Given the description of an element on the screen output the (x, y) to click on. 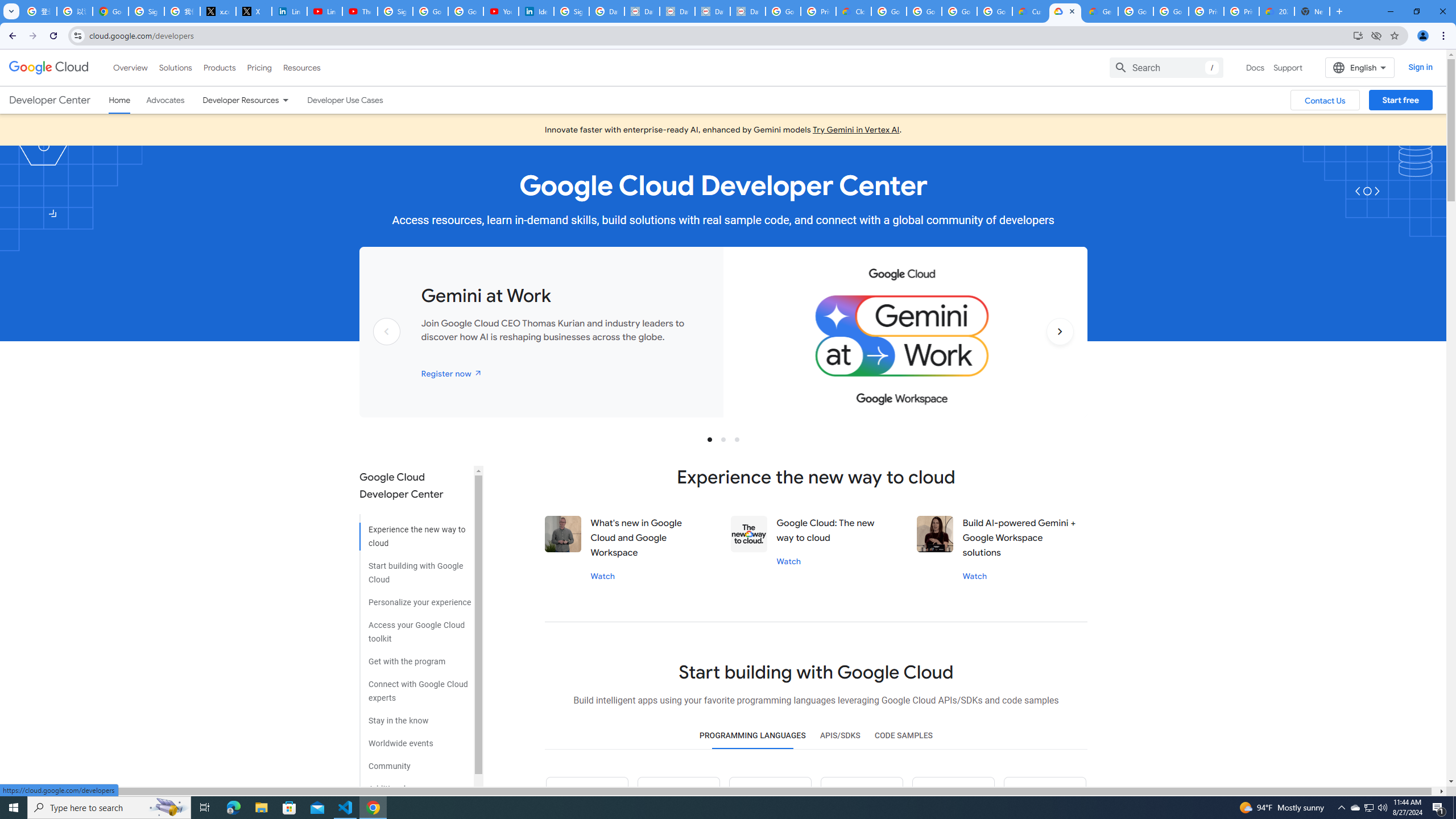
Dot net icon (952, 798)
Home, selected (119, 99)
Overview (130, 67)
LinkedIn - YouTube (324, 11)
Gemini for Business and Developers | Google Cloud (1099, 11)
Search (1166, 67)
Personalize your experience (415, 598)
Dropdown menu for Developer Resources (285, 99)
